Given the description of an element on the screen output the (x, y) to click on. 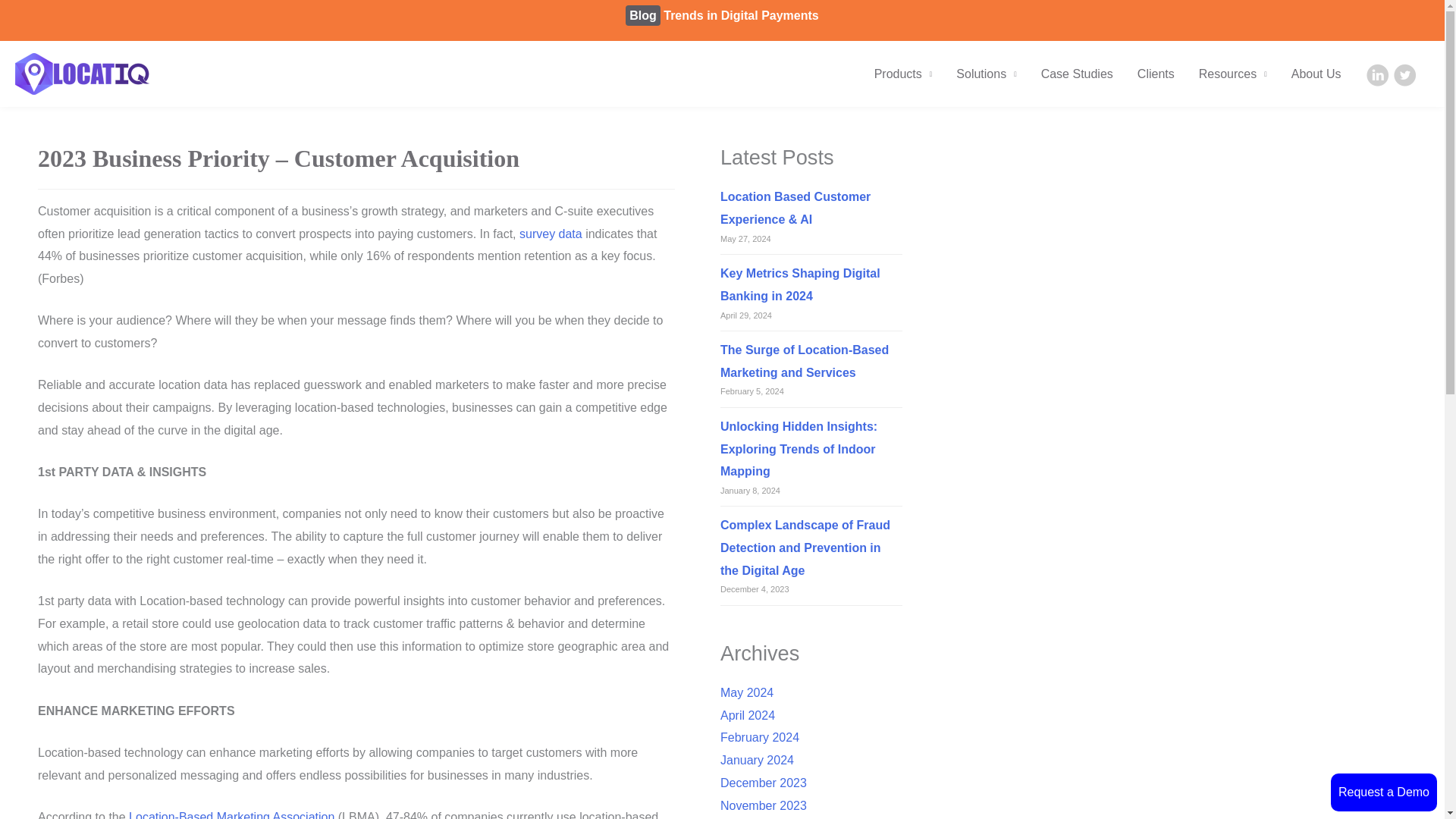
Location-Based Marketing Association (231, 814)
Products (902, 73)
About Us (1316, 73)
Solutions (985, 73)
Blog Trends in Digital Payments (722, 14)
View all posts by Mall IQ (77, 56)
Mall IQ (77, 56)
Request a Demo (1383, 792)
survey data (550, 233)
Clients (1155, 73)
Blog (18, 56)
The Surge of Location-Based Marketing and Services (804, 361)
Case Studies (1077, 73)
